Given the description of an element on the screen output the (x, y) to click on. 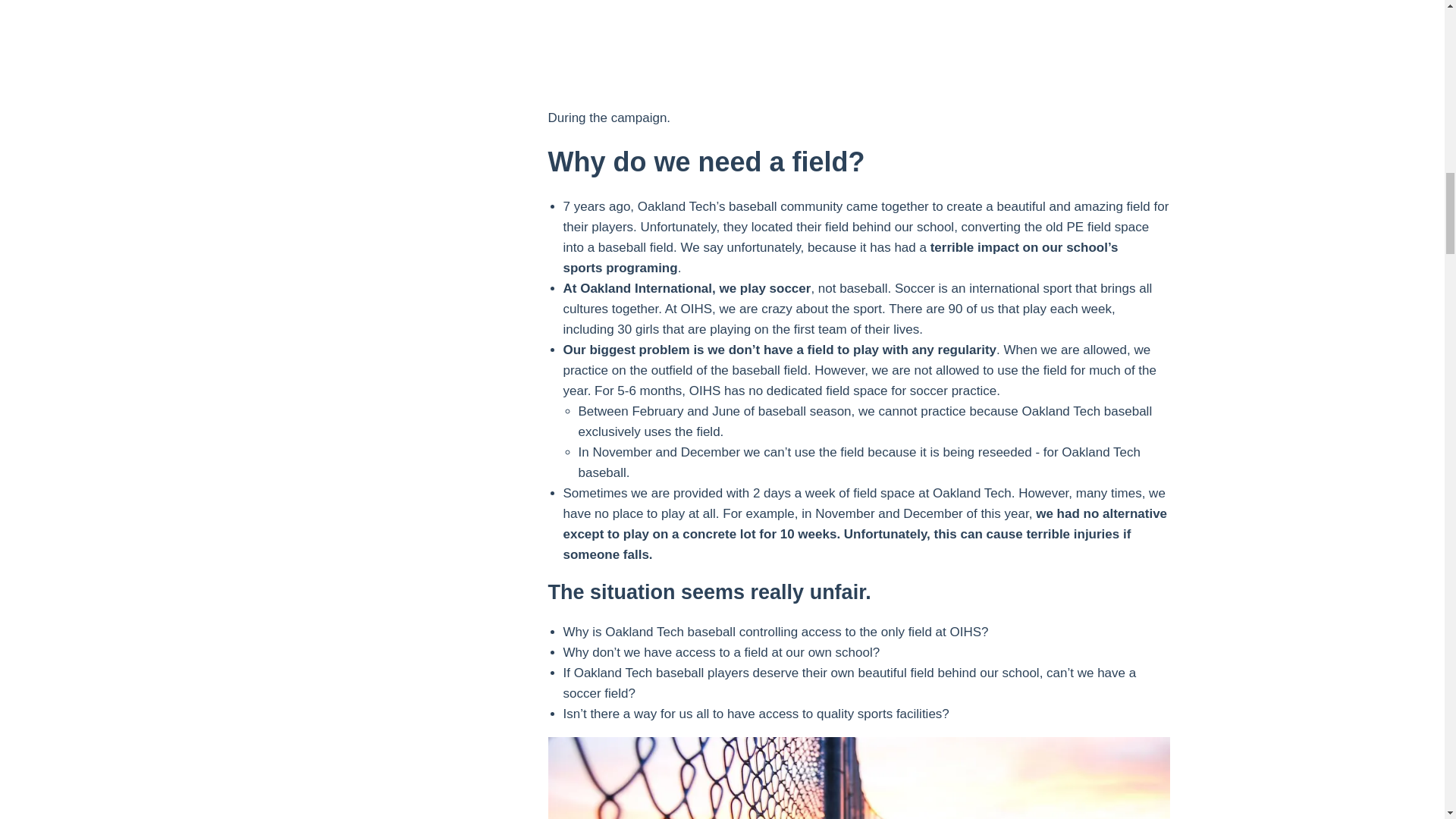
Youtube (858, 46)
